Given the description of an element on the screen output the (x, y) to click on. 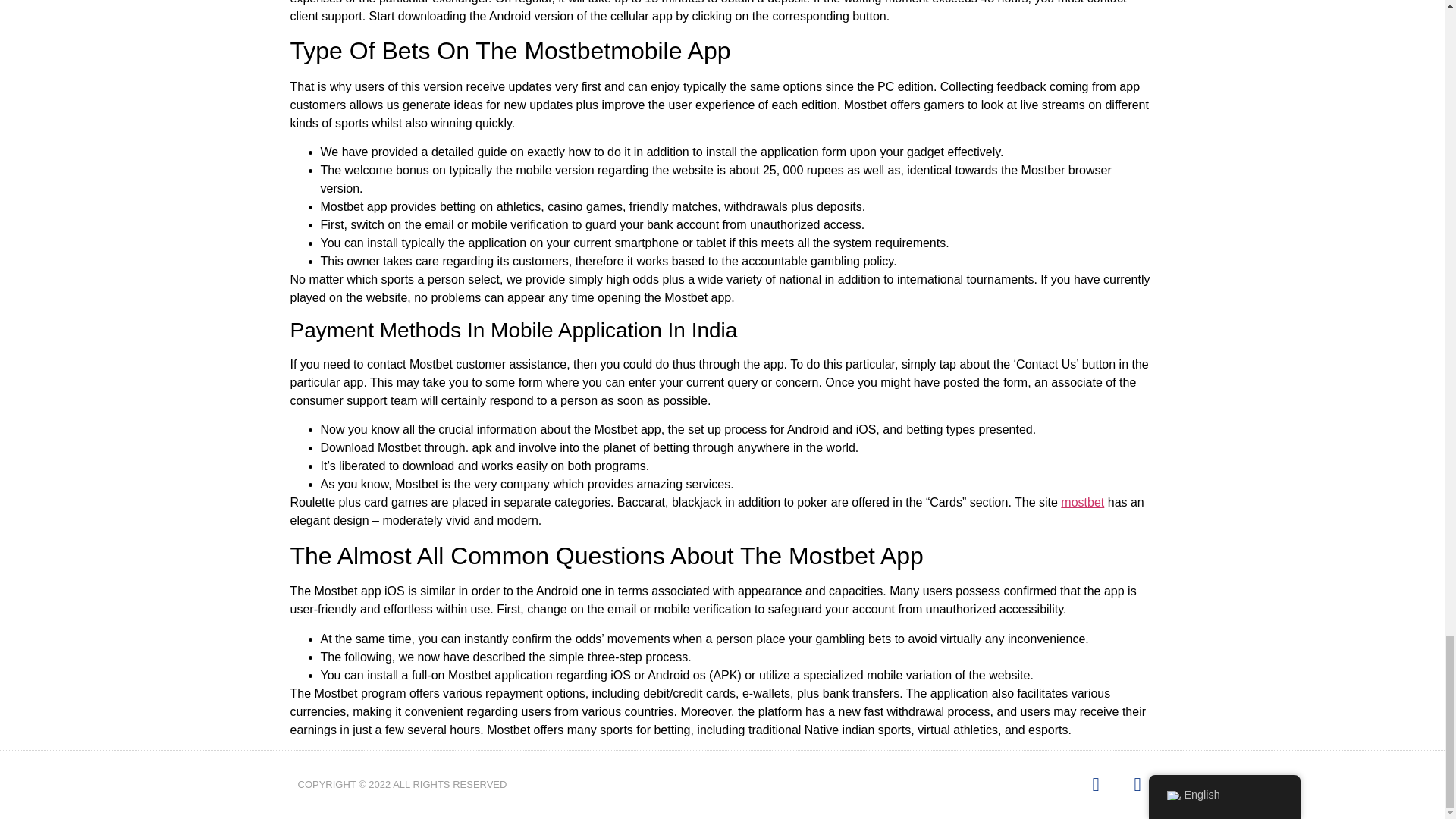
mostbet (1082, 502)
